Given the description of an element on the screen output the (x, y) to click on. 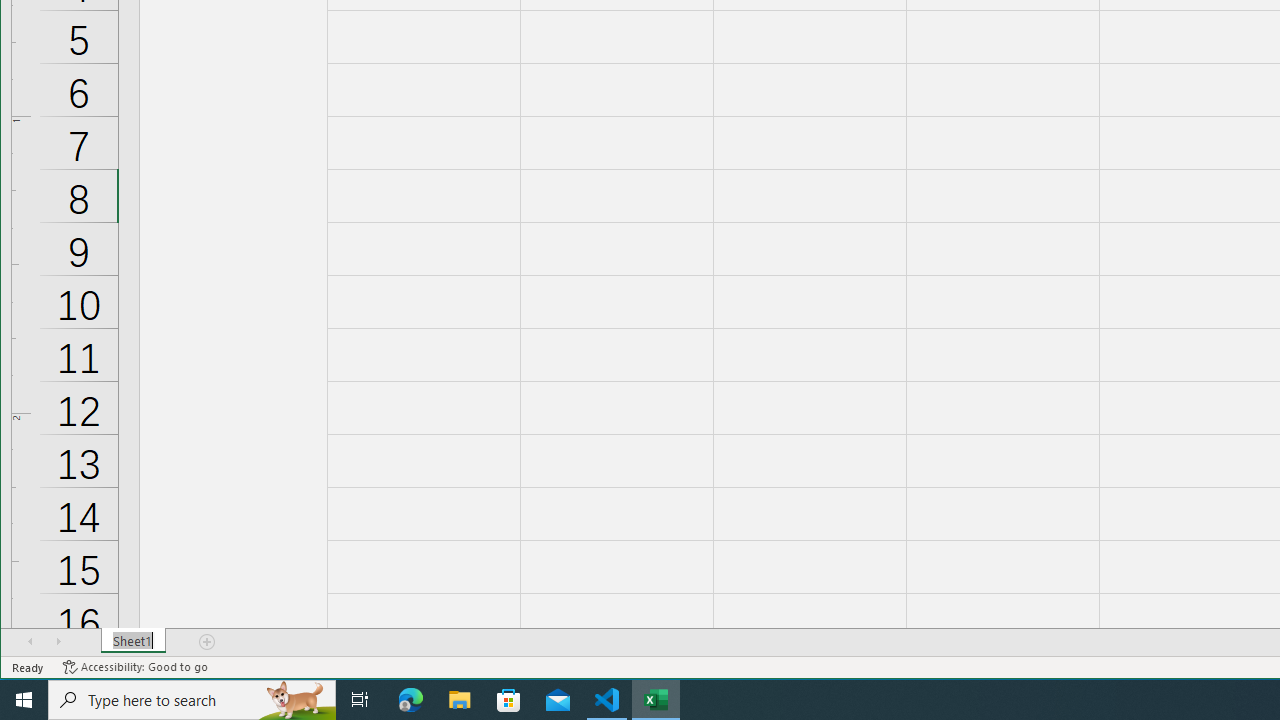
Excel - 1 running window (656, 699)
